Given the description of an element on the screen output the (x, y) to click on. 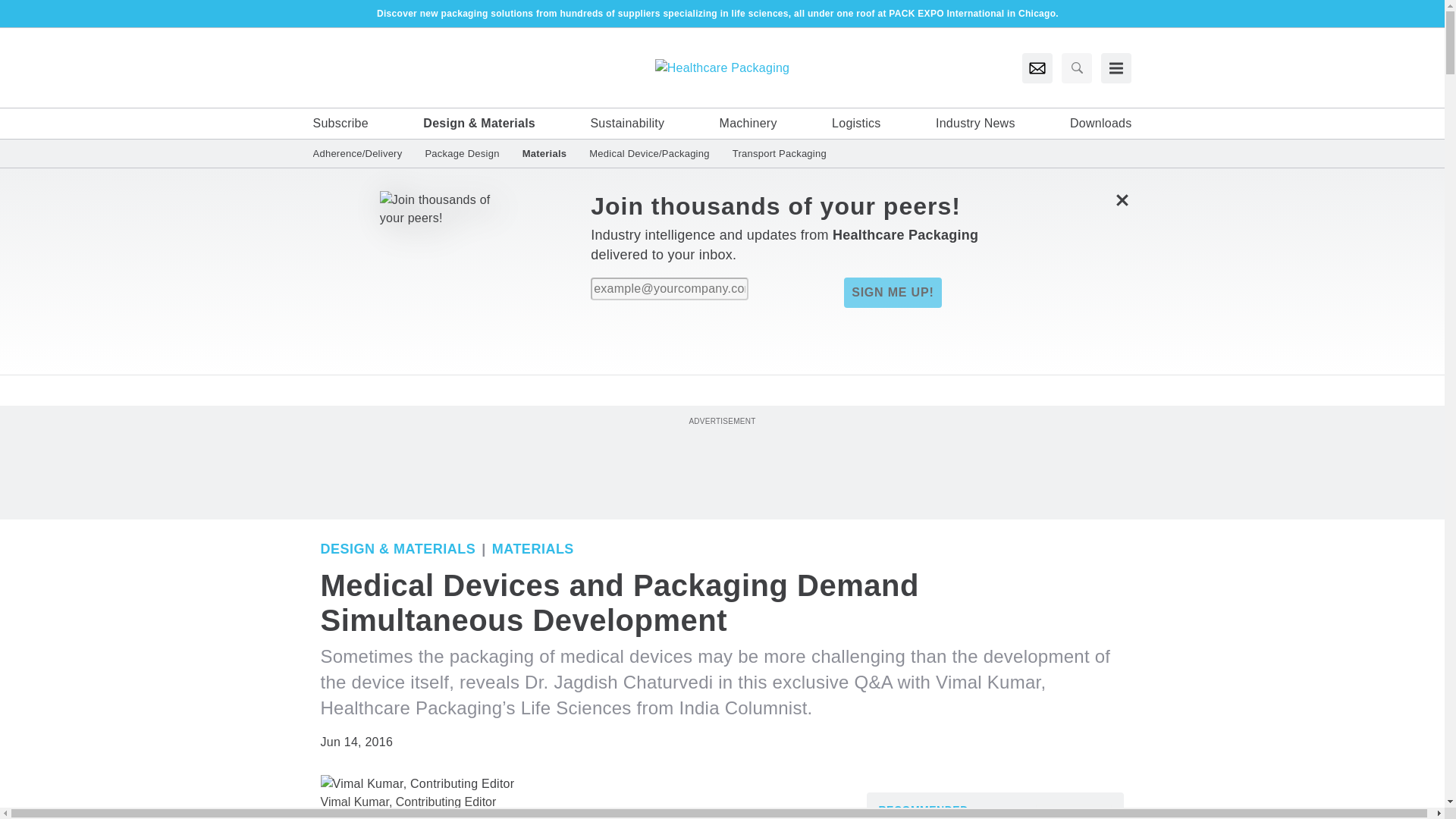
Downloads (1100, 123)
Package Design (462, 153)
Logistics (855, 123)
Sustainability (626, 123)
Machinery (748, 123)
Transport Packaging (773, 153)
Materials (544, 153)
Recommended (922, 809)
Industry News (975, 123)
